Given the description of an element on the screen output the (x, y) to click on. 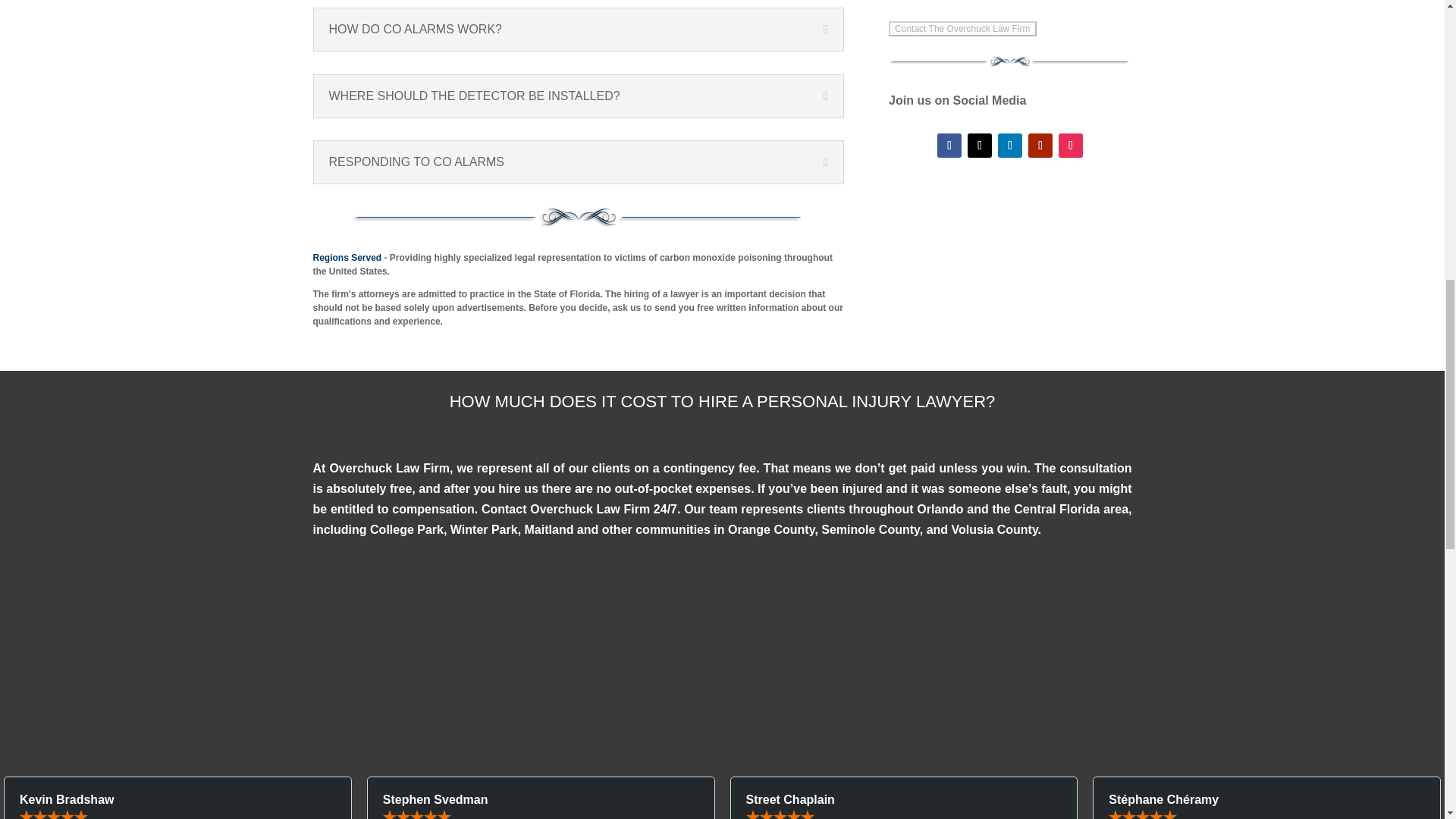
Follow on Instagram (1070, 145)
Follow on X (979, 145)
Regions Served (347, 257)
Follow on LinkedIn (1009, 145)
Contact The Overchuck Law Firm (962, 28)
Google-5Star (721, 645)
Contact The Overchuck Law Firm (962, 28)
Follow on Youtube (1039, 145)
Follow on Facebook (948, 145)
Carbon Monoxide Poisoning Attorney Handles Cases Nationwide (347, 257)
